Given the description of an element on the screen output the (x, y) to click on. 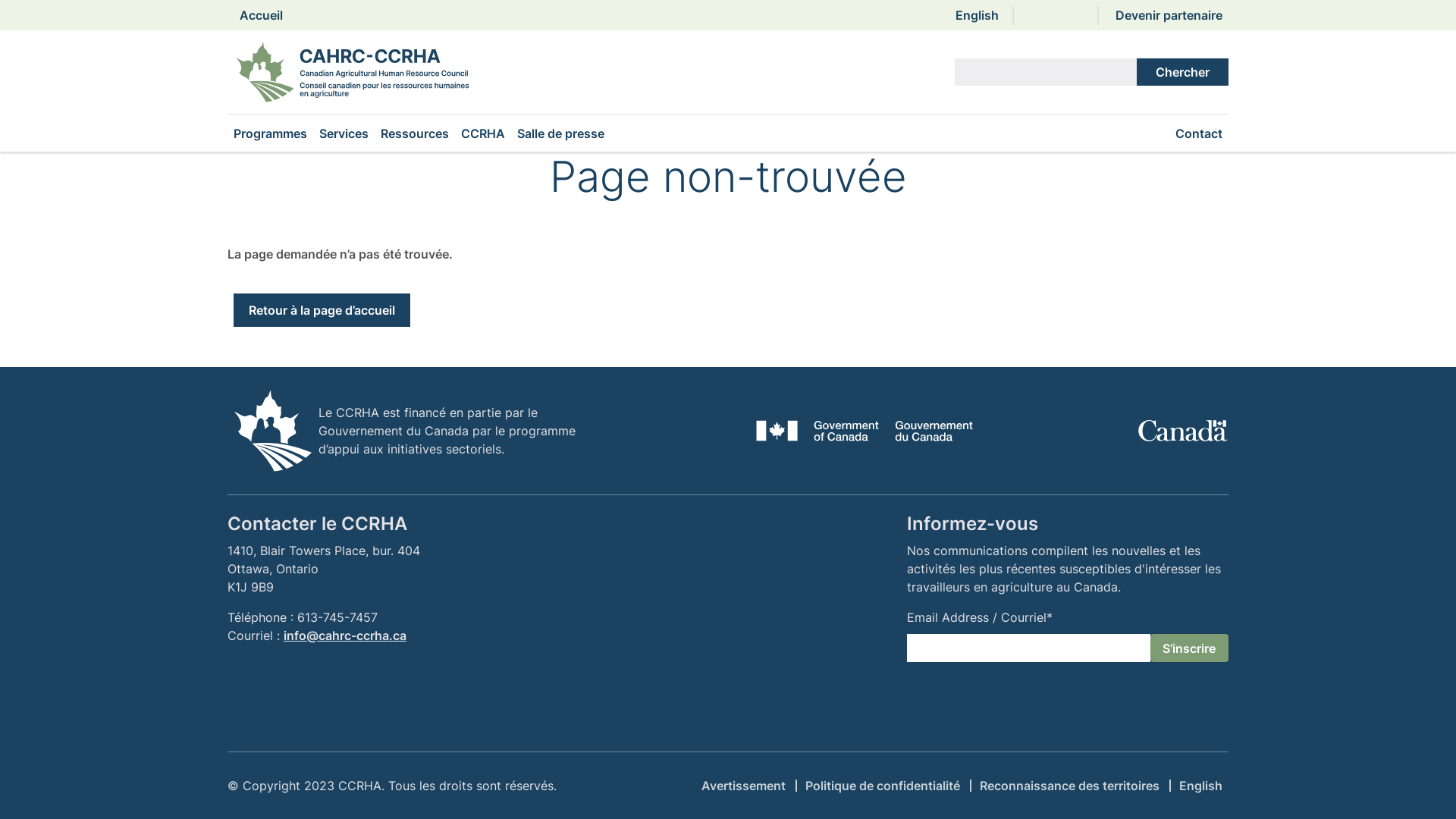
Contact Element type: text (1198, 133)
Chercher Element type: text (1182, 71)
Devenir partenaire Element type: text (1168, 15)
Avertissement Element type: text (743, 785)
CCRHA Element type: text (483, 133)
Salle de presse Element type: text (560, 133)
Accueil Element type: hover (358, 71)
info@cahrc-ccrha.ca Element type: text (344, 635)
Accueil Element type: text (260, 15)
Programmes Element type: text (270, 133)
Services Element type: text (343, 133)
Ressources Element type: text (414, 133)
English Element type: text (976, 14)
English Element type: text (1200, 785)
Reconnaissance des territoires Element type: text (1069, 785)
